Given the description of an element on the screen output the (x, y) to click on. 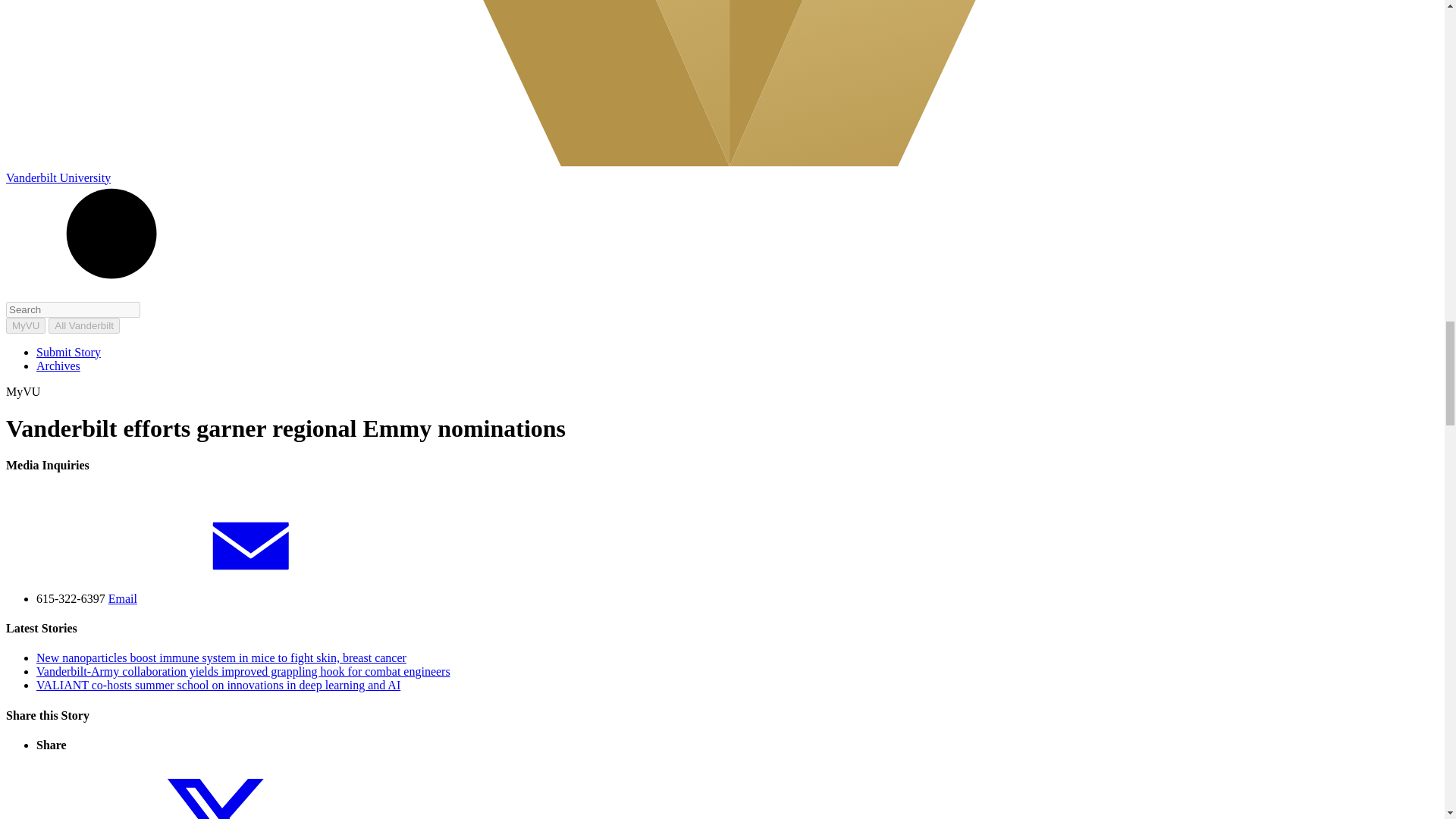
All Vanderbilt (83, 325)
MyVU (25, 325)
Archives (58, 365)
Email (236, 598)
Submit Story (68, 351)
